Given the description of an element on the screen output the (x, y) to click on. 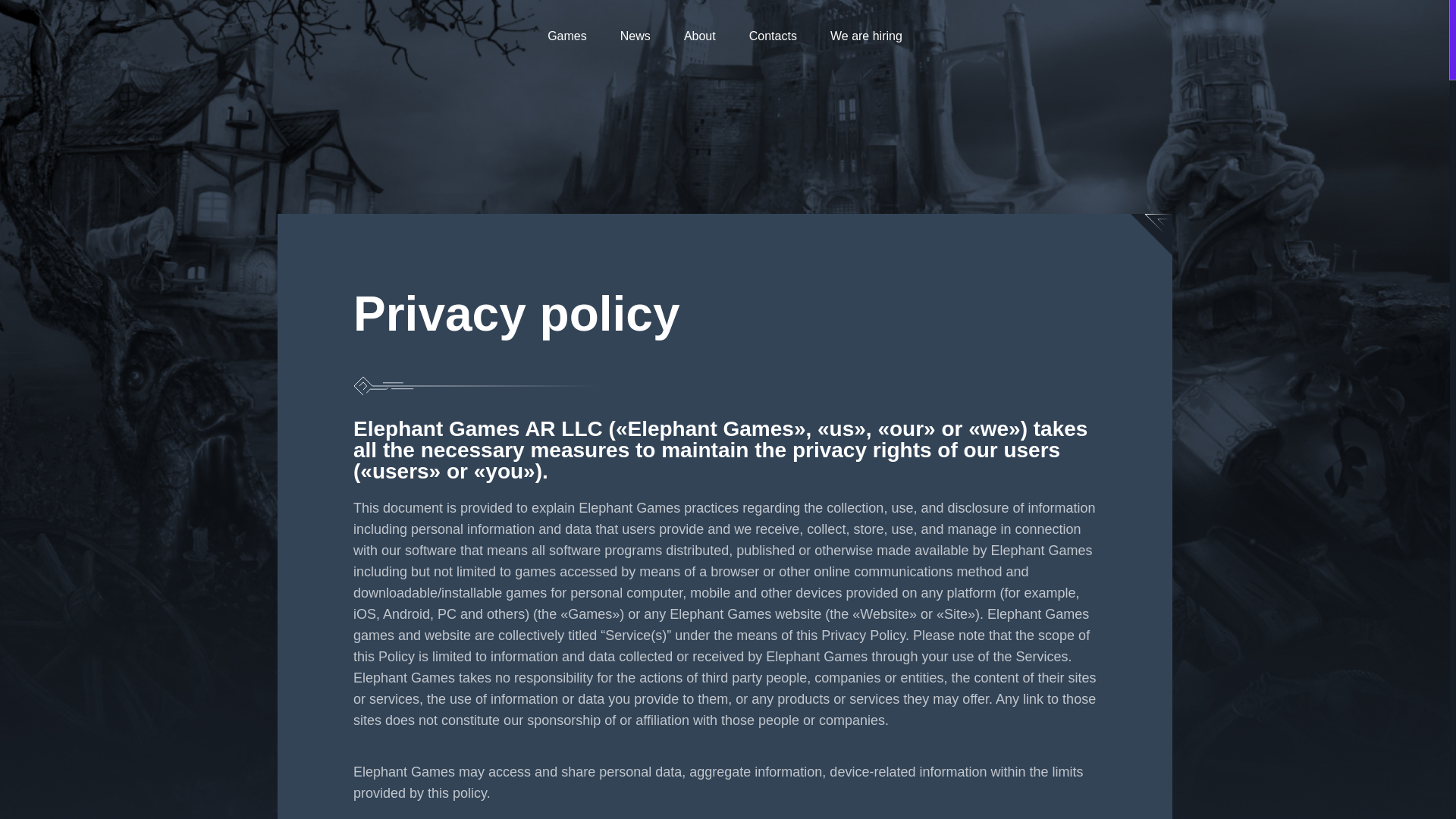
We are hiring (865, 36)
News (635, 36)
About (700, 36)
Games (566, 36)
Contacts (772, 36)
